Given the description of an element on the screen output the (x, y) to click on. 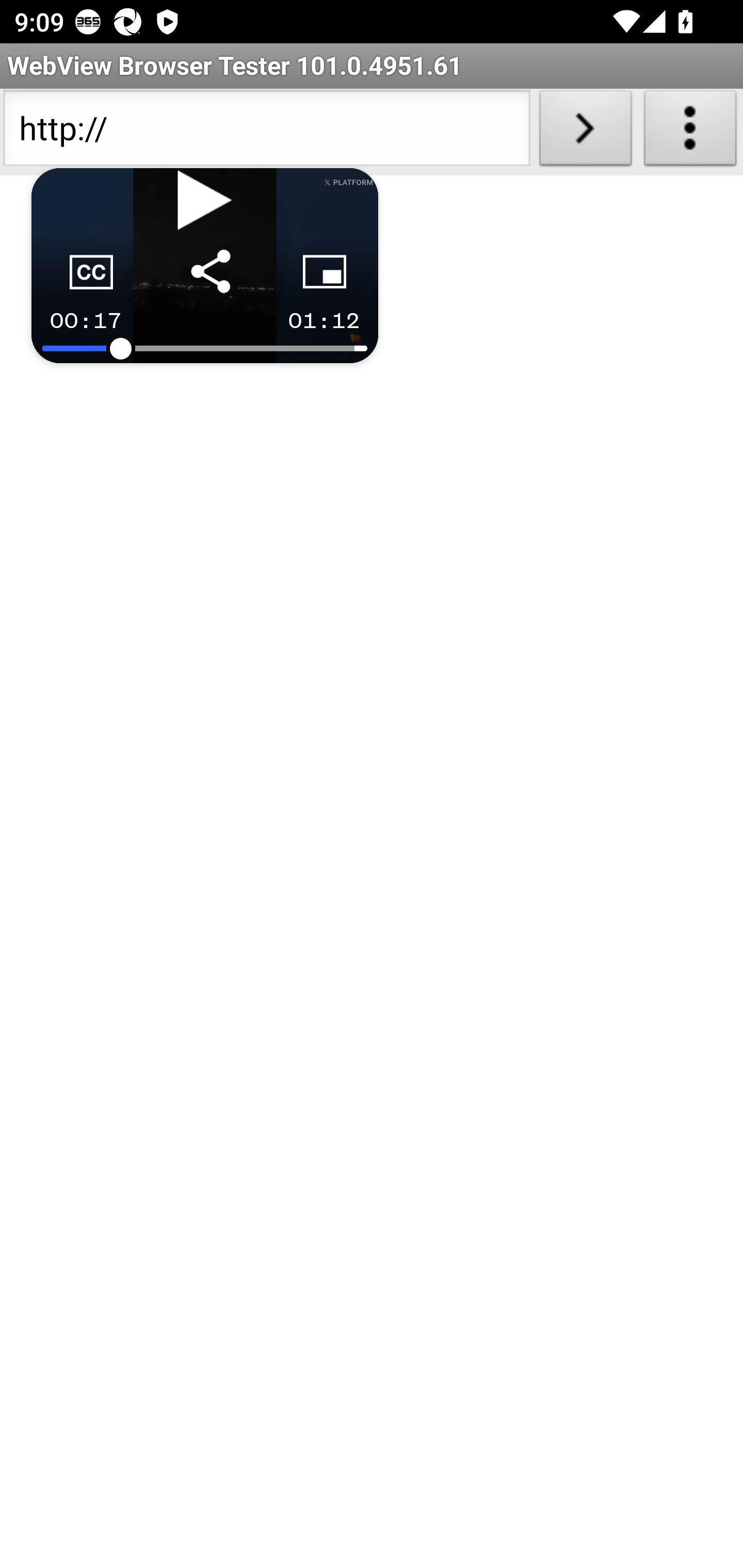
http:// (266, 132)
Load URL (585, 132)
About WebView (690, 132)
